Given the description of an element on the screen output the (x, y) to click on. 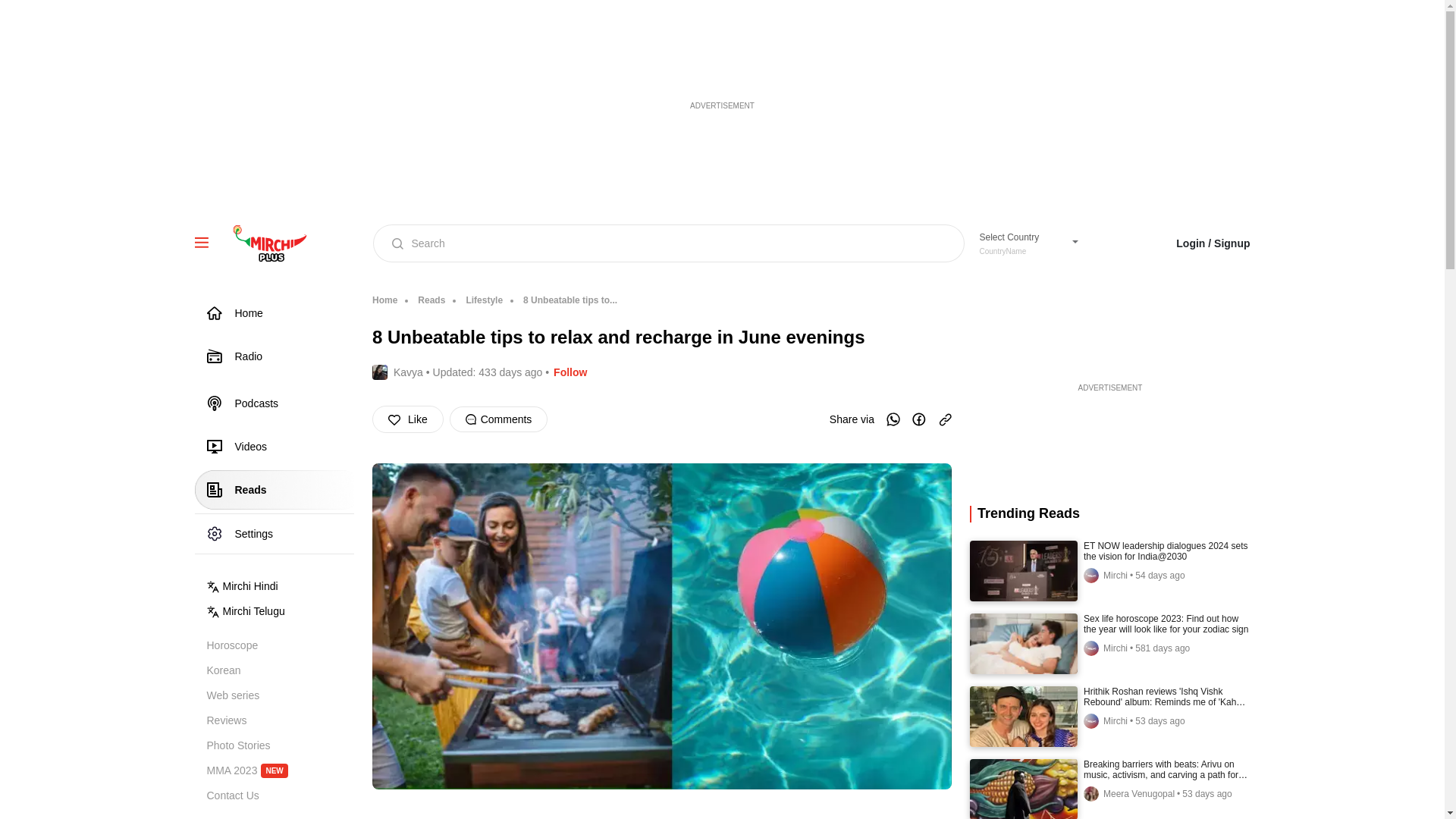
Home (383, 300)
Korean (279, 670)
Lifestyle (477, 300)
Reads (424, 300)
Reviews (1022, 243)
Photo Stories (279, 720)
Horoscope (279, 745)
Mirchi Hindi (279, 645)
Contact Us (279, 586)
